Given the description of an element on the screen output the (x, y) to click on. 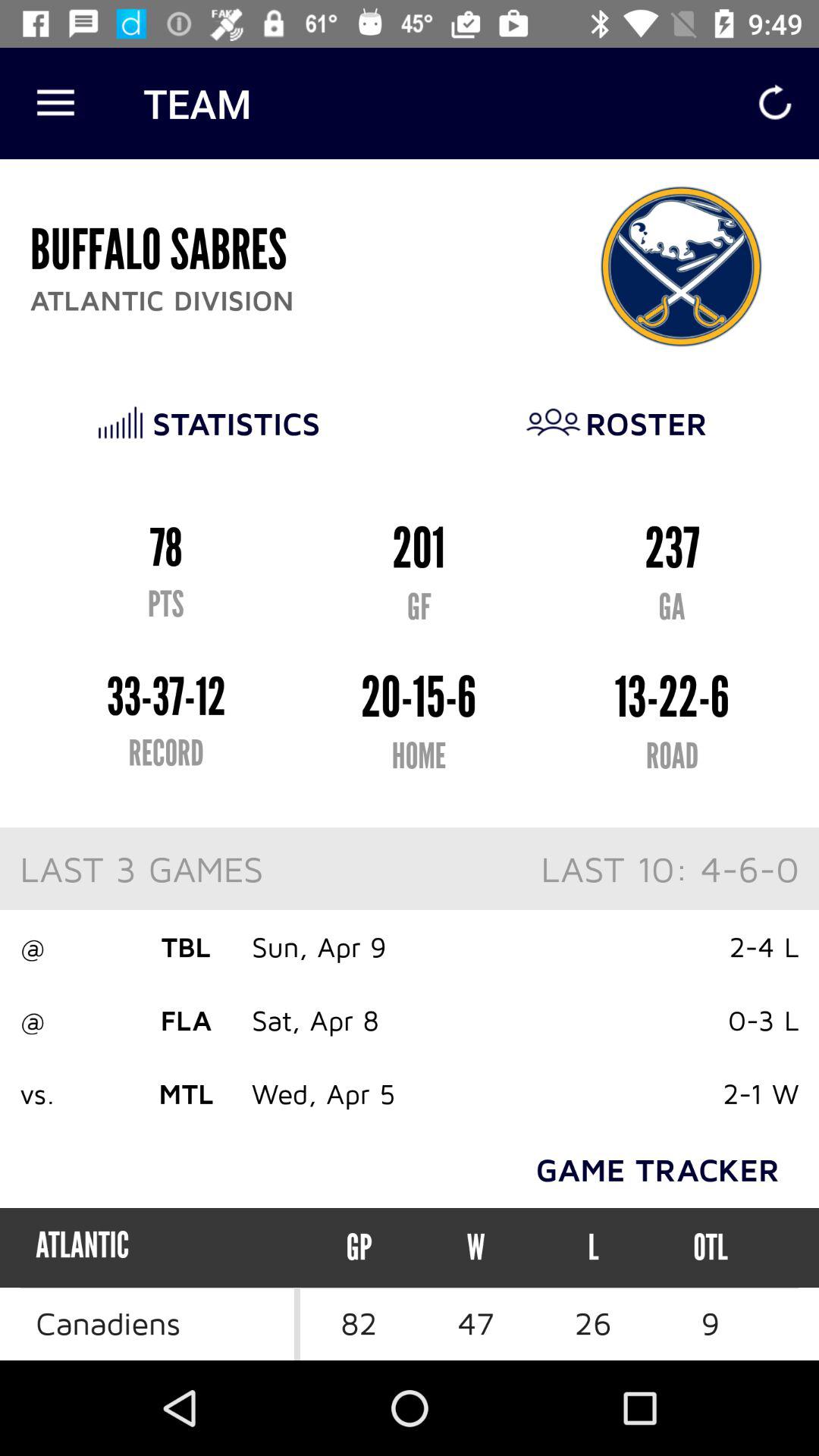
select the image before roster (553, 422)
